Given the description of an element on the screen output the (x, y) to click on. 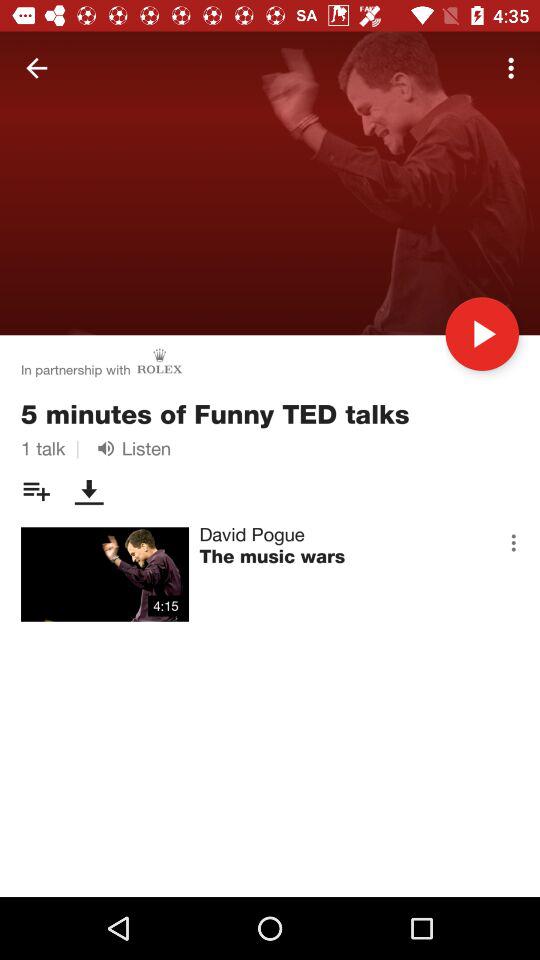
tap the icon next to the david pogue item (513, 542)
